Given the description of an element on the screen output the (x, y) to click on. 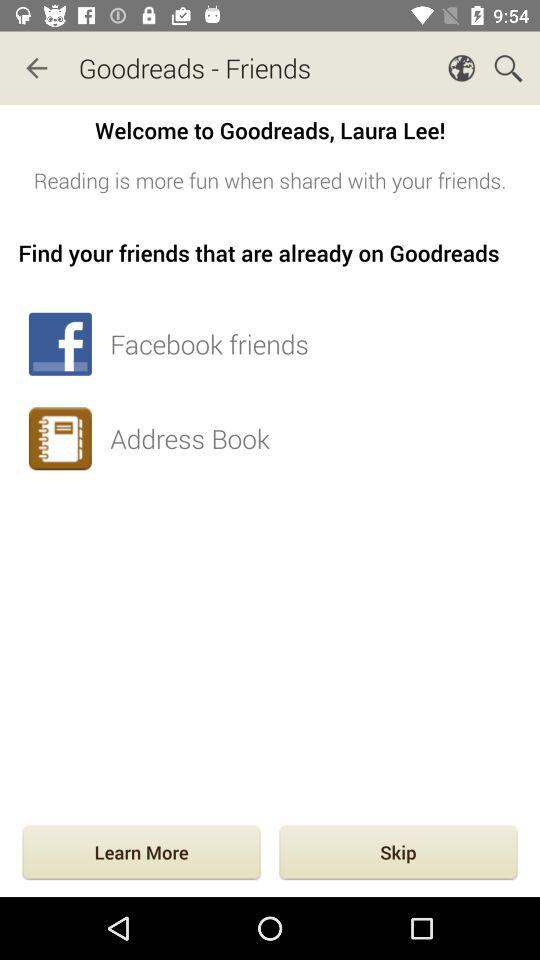
scroll until skip (398, 854)
